Given the description of an element on the screen output the (x, y) to click on. 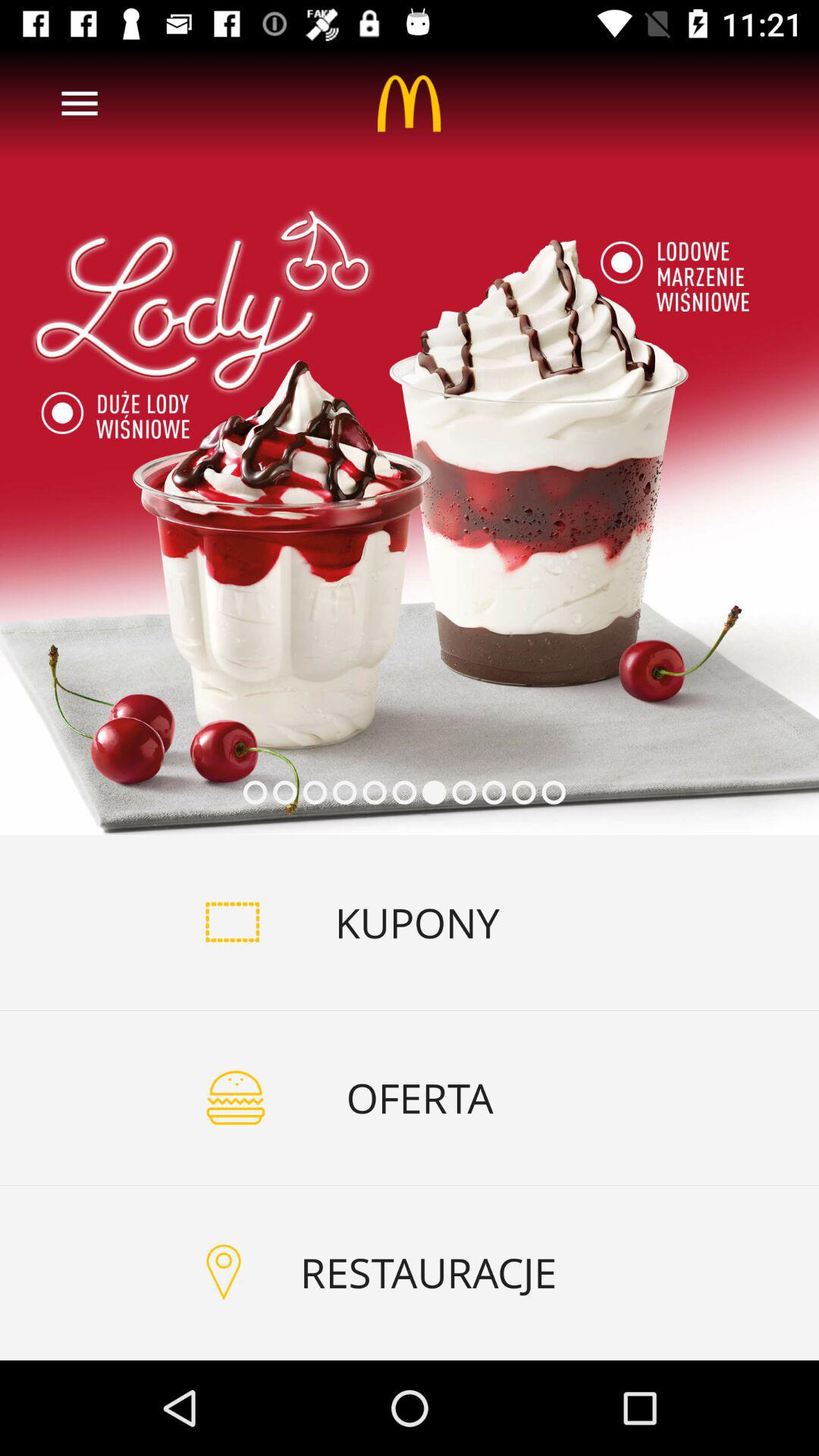
go to previous (79, 103)
